Given the description of an element on the screen output the (x, y) to click on. 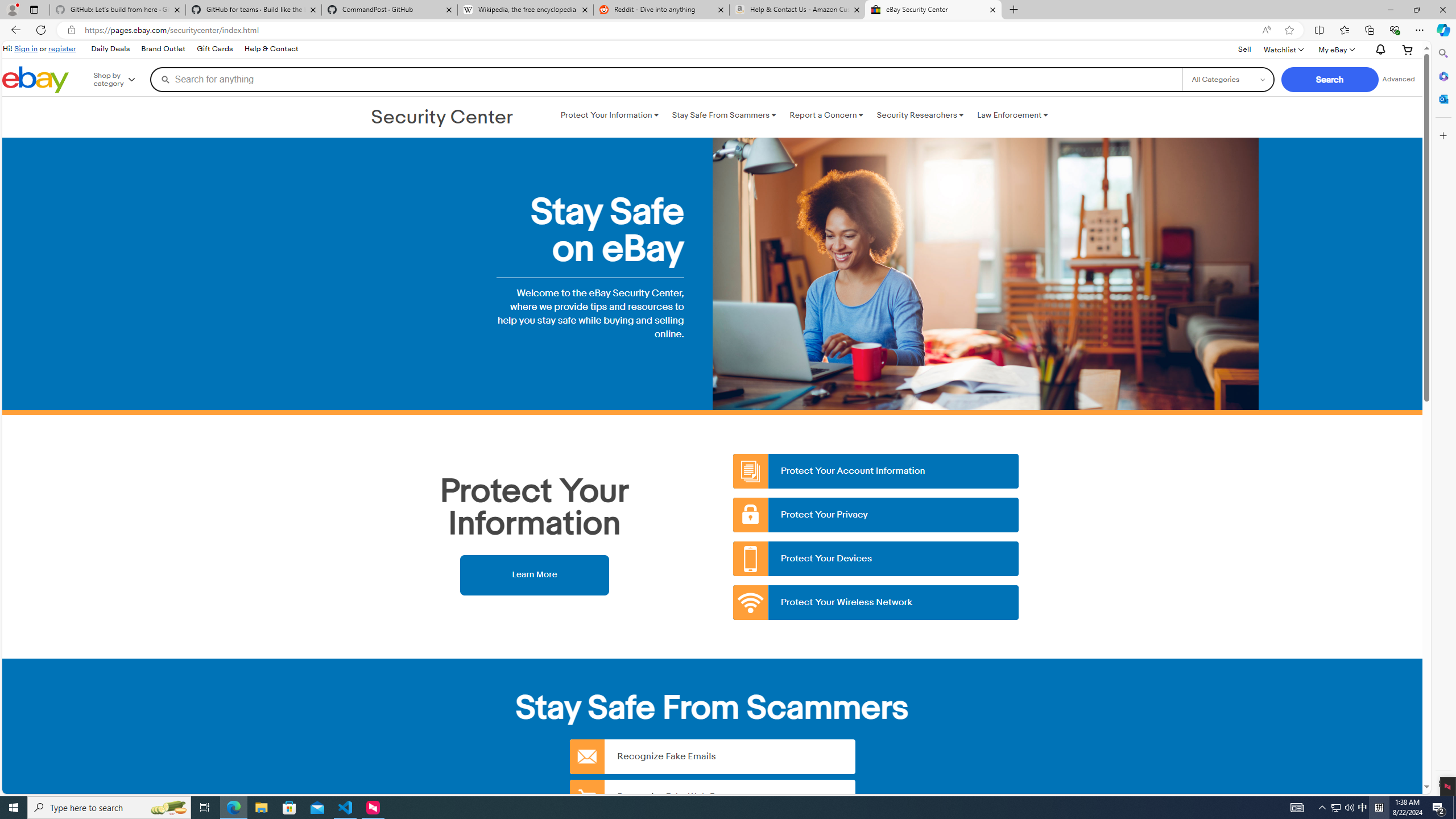
Wikipedia, the free encyclopedia (525, 9)
Sell (1244, 49)
Reddit - Dive into anything (660, 9)
Notifications (1377, 49)
Daily Deals (109, 49)
Microsoft 365 (1442, 76)
Protect Your Information  (608, 115)
Watchlist (1282, 49)
Protect Your Account Information (876, 470)
Learn More (534, 574)
Protect Your Privacy (876, 514)
Sell (1244, 49)
Help & Contact Us - Amazon Customer Service - Sleeping (797, 9)
